Given the description of an element on the screen output the (x, y) to click on. 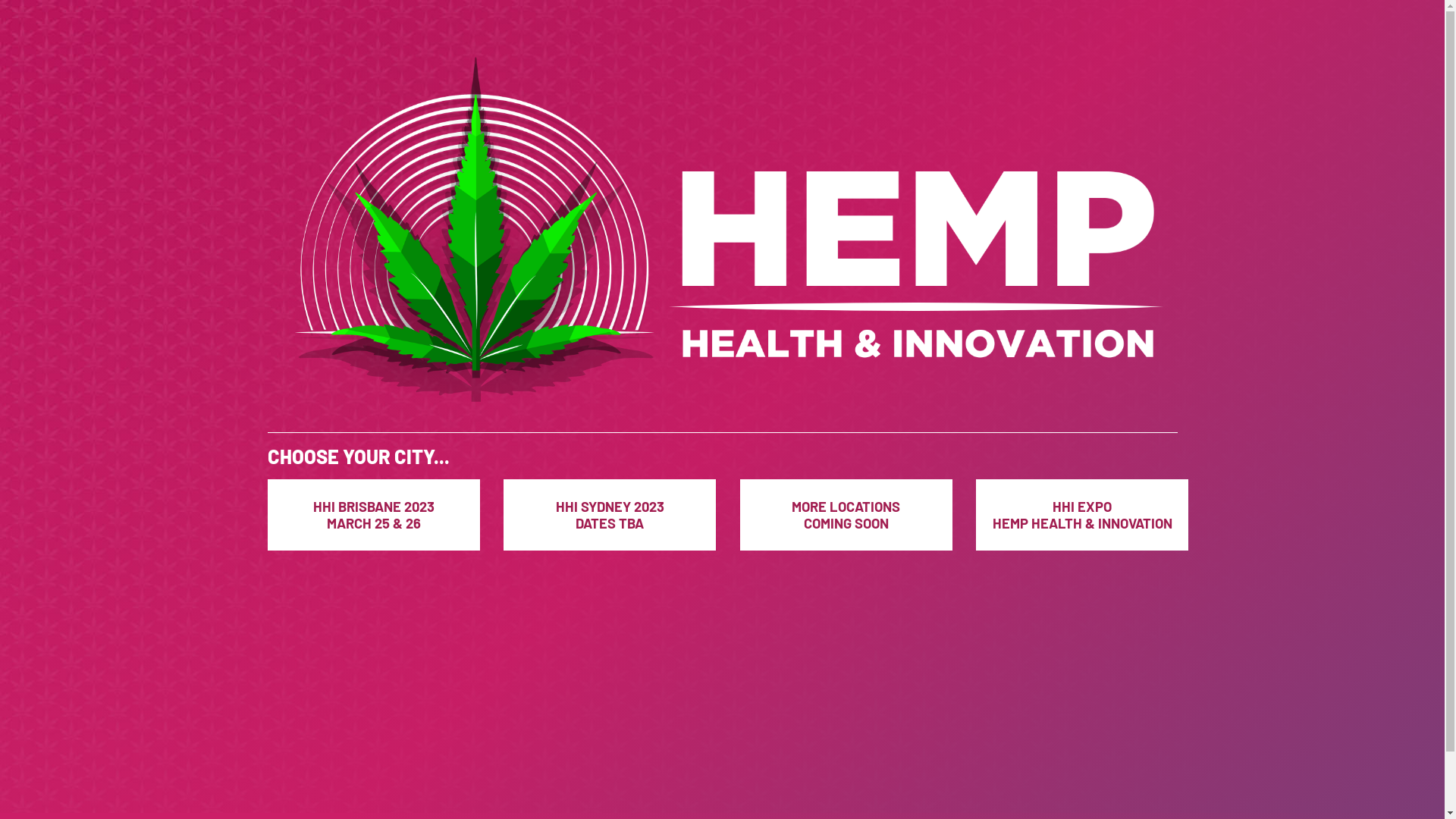
HHI BRISBANE 2023
MARCH 25 & 26 Element type: text (372, 514)
HHI EXPO
HEMP HEALTH & INNOVATION Element type: text (1081, 514)
HHI SYDNEY 2023
DATES TBA Element type: text (609, 514)
MORE LOCATIONS
COMING SOON Element type: text (846, 514)
